Given the description of an element on the screen output the (x, y) to click on. 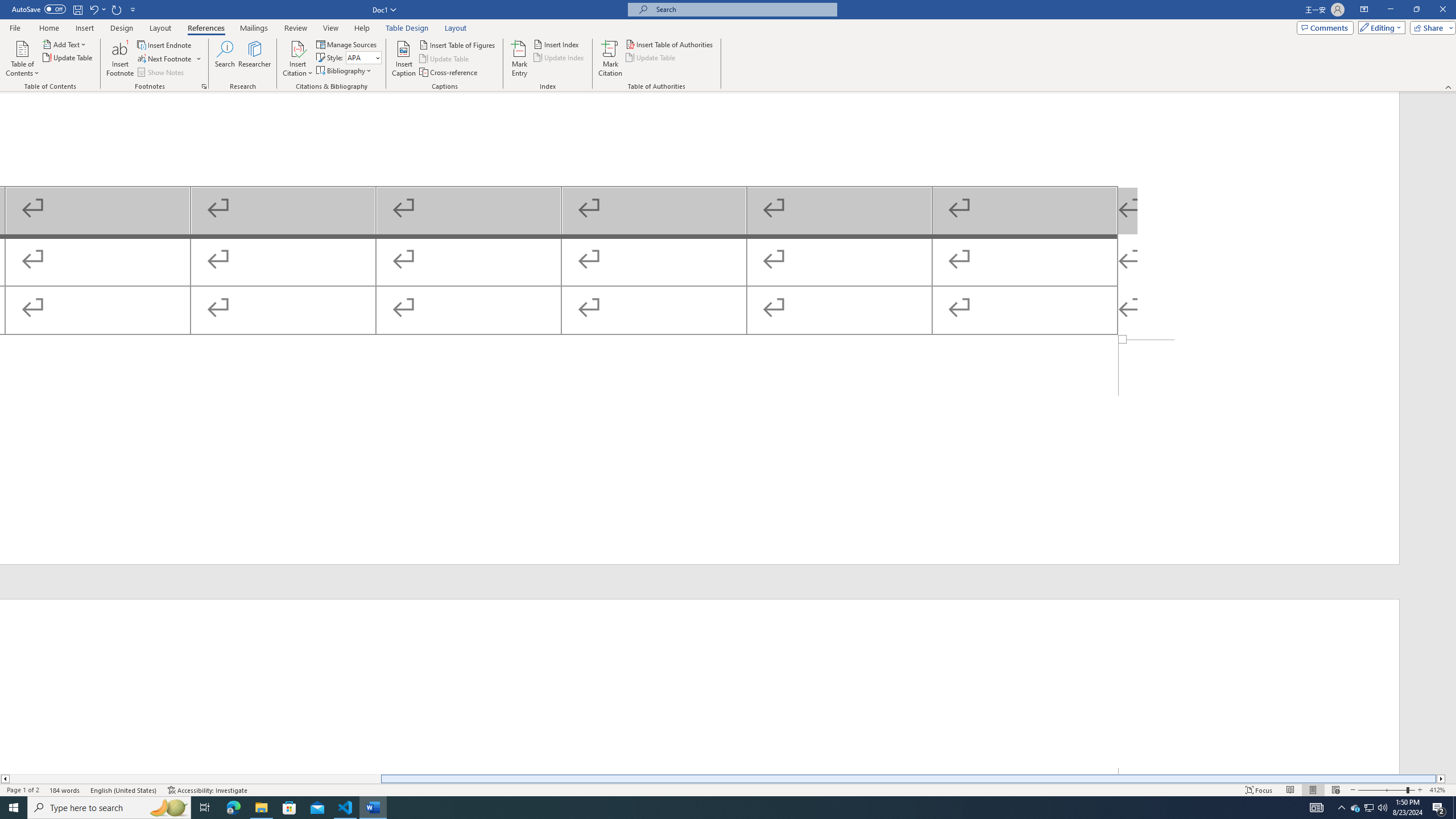
Table of Contents (22, 58)
Show Notes (161, 72)
Insert Caption... (403, 58)
Update Table (651, 56)
Column left (5, 778)
Insert Endnote (165, 44)
Class: NetUIScrollBar (1450, 432)
